Given the description of an element on the screen output the (x, y) to click on. 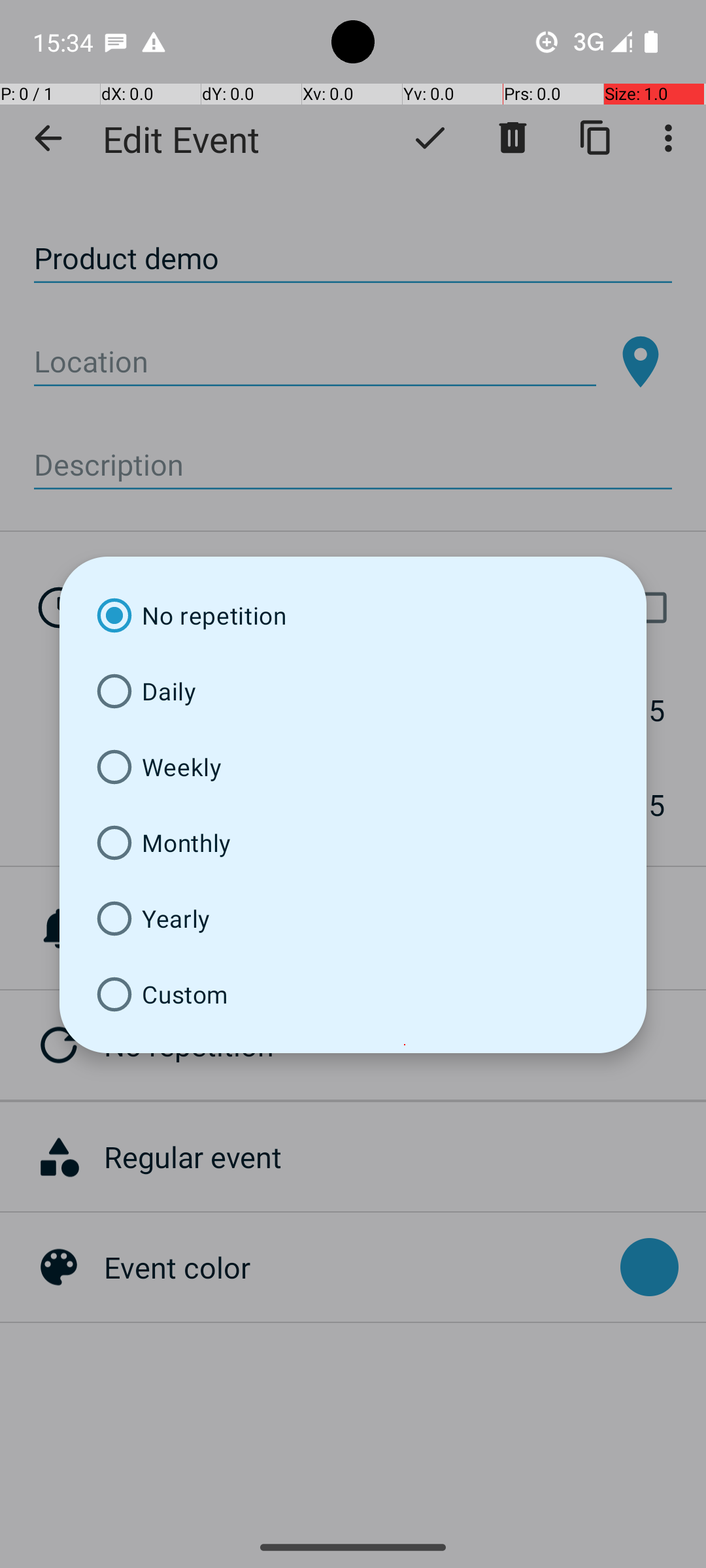
Daily Element type: android.widget.RadioButton (352, 691)
Weekly Element type: android.widget.RadioButton (352, 766)
Monthly Element type: android.widget.RadioButton (352, 842)
Yearly Element type: android.widget.RadioButton (352, 918)
Custom Element type: android.widget.RadioButton (352, 994)
